Given the description of an element on the screen output the (x, y) to click on. 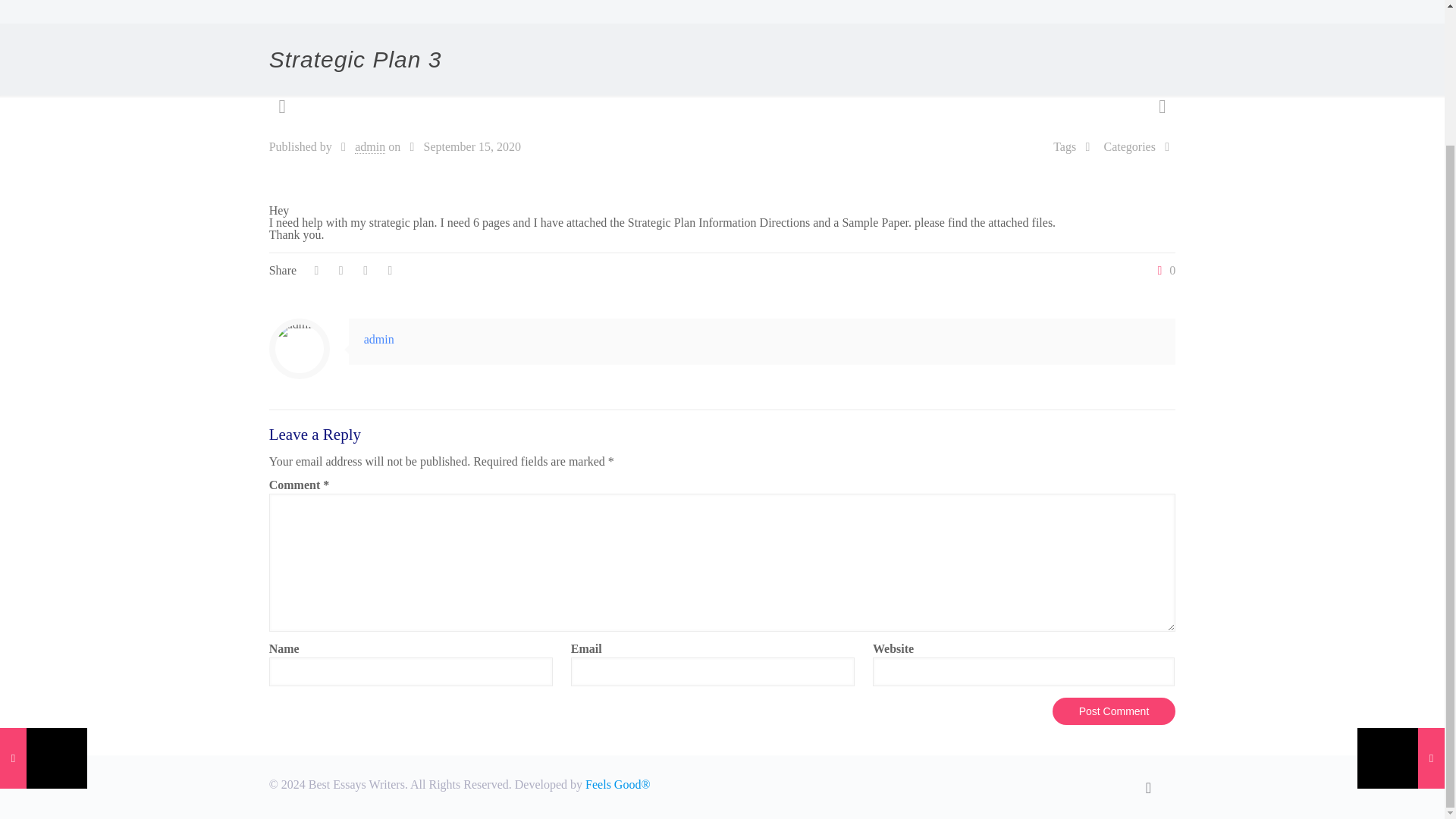
0 (1162, 270)
admin (379, 338)
Twitter (1076, 784)
Post Comment (1114, 710)
LinkedIn (1097, 784)
admin (370, 146)
Post Comment (1114, 710)
Facebook (1056, 784)
